Given the description of an element on the screen output the (x, y) to click on. 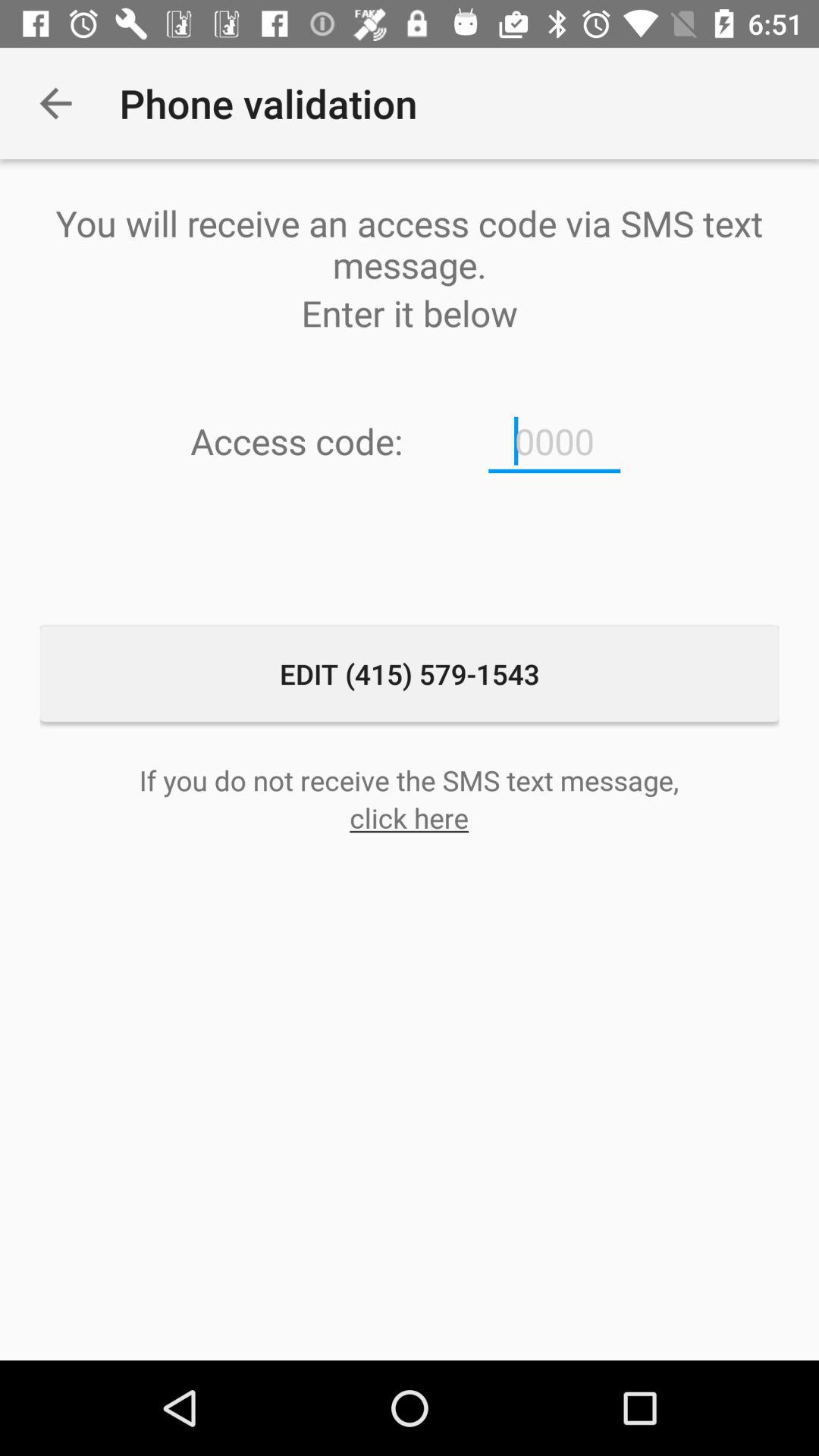
turn on icon above the if you do icon (409, 673)
